Given the description of an element on the screen output the (x, y) to click on. 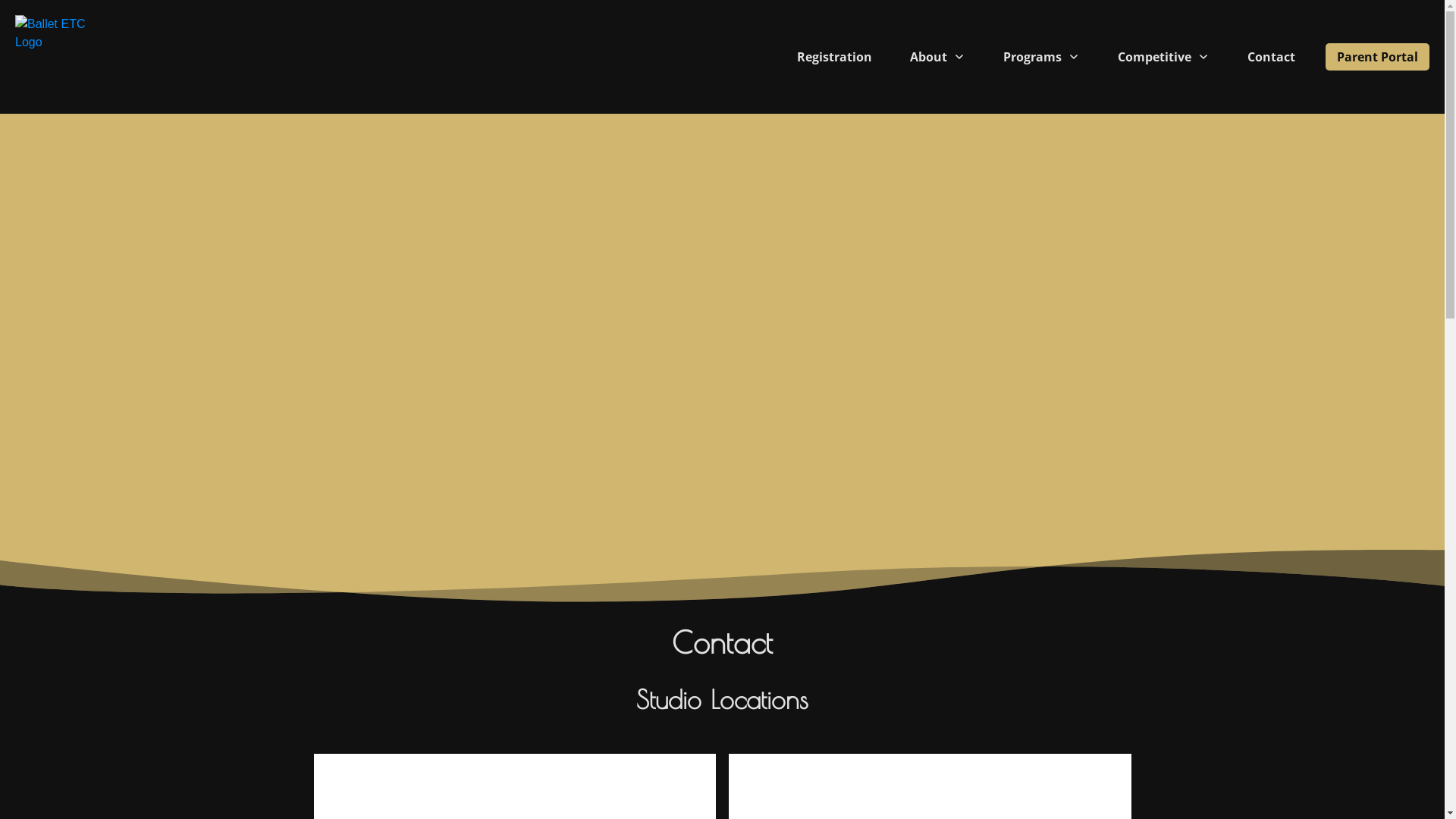
Parent Portal Element type: text (1377, 56)
About Element type: text (937, 56)
Competitive Element type: text (1163, 56)
Registration Element type: text (834, 56)
Contact Element type: text (1271, 56)
Programs Element type: text (1041, 56)
